Given the description of an element on the screen output the (x, y) to click on. 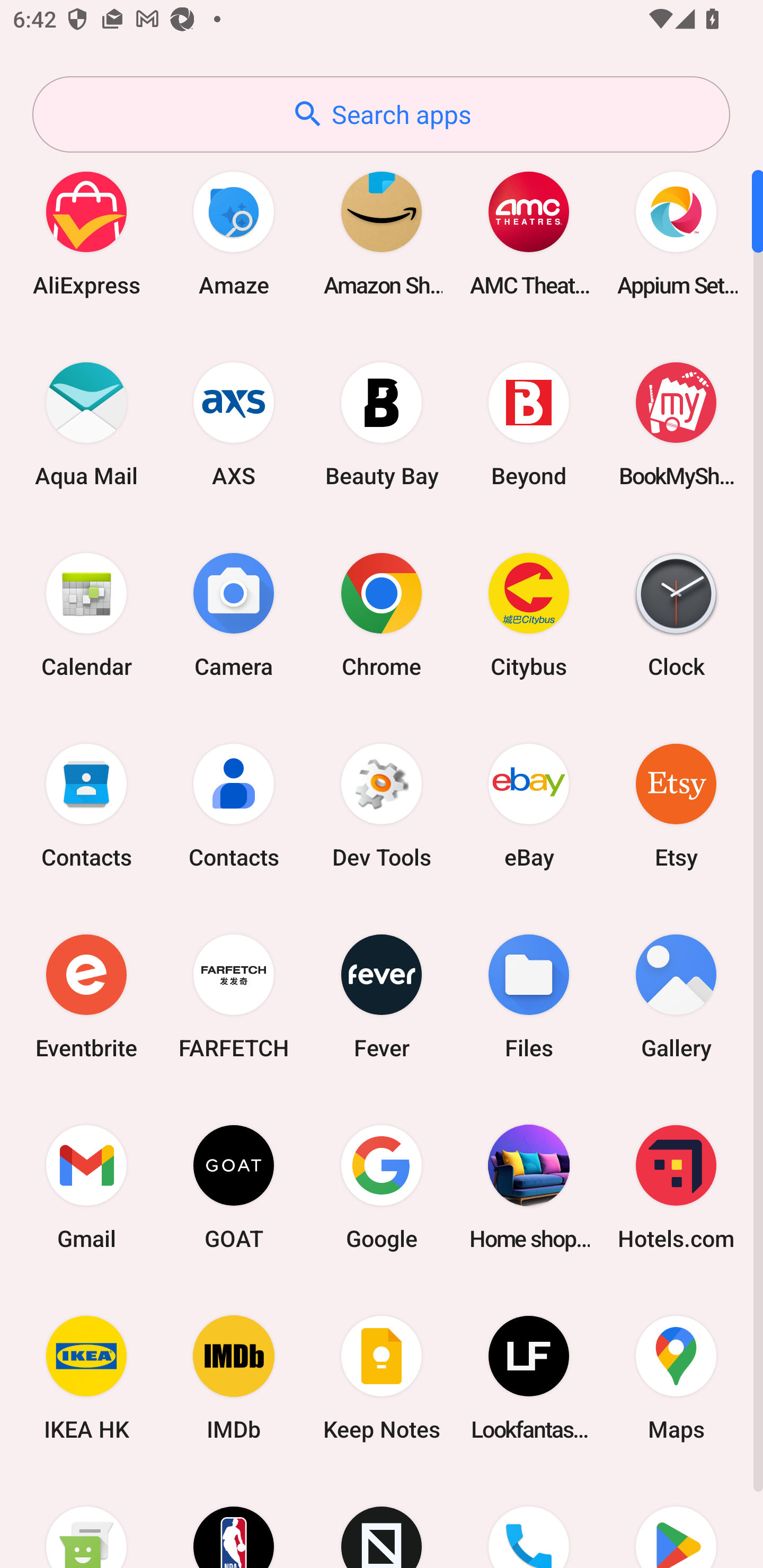
  Search apps (381, 114)
AliExpress (86, 233)
Amaze (233, 233)
Amazon Shopping (381, 233)
AMC Theatres (528, 233)
Appium Settings (676, 233)
Aqua Mail (86, 424)
AXS (233, 424)
Beauty Bay (381, 424)
Beyond (528, 424)
BookMyShow (676, 424)
Calendar (86, 614)
Camera (233, 614)
Chrome (381, 614)
Citybus (528, 614)
Clock (676, 614)
Contacts (86, 805)
Contacts (233, 805)
Dev Tools (381, 805)
eBay (528, 805)
Etsy (676, 805)
Eventbrite (86, 996)
FARFETCH (233, 996)
Fever (381, 996)
Files (528, 996)
Gallery (676, 996)
Gmail (86, 1186)
GOAT (233, 1186)
Google (381, 1186)
Home shopping (528, 1186)
Hotels.com (676, 1186)
IKEA HK (86, 1377)
IMDb (233, 1377)
Keep Notes (381, 1377)
Lookfantastic (528, 1377)
Maps (676, 1377)
Messaging (86, 1520)
NBA (233, 1520)
Novelship (381, 1520)
Phone (528, 1520)
Play Store (676, 1520)
